Given the description of an element on the screen output the (x, y) to click on. 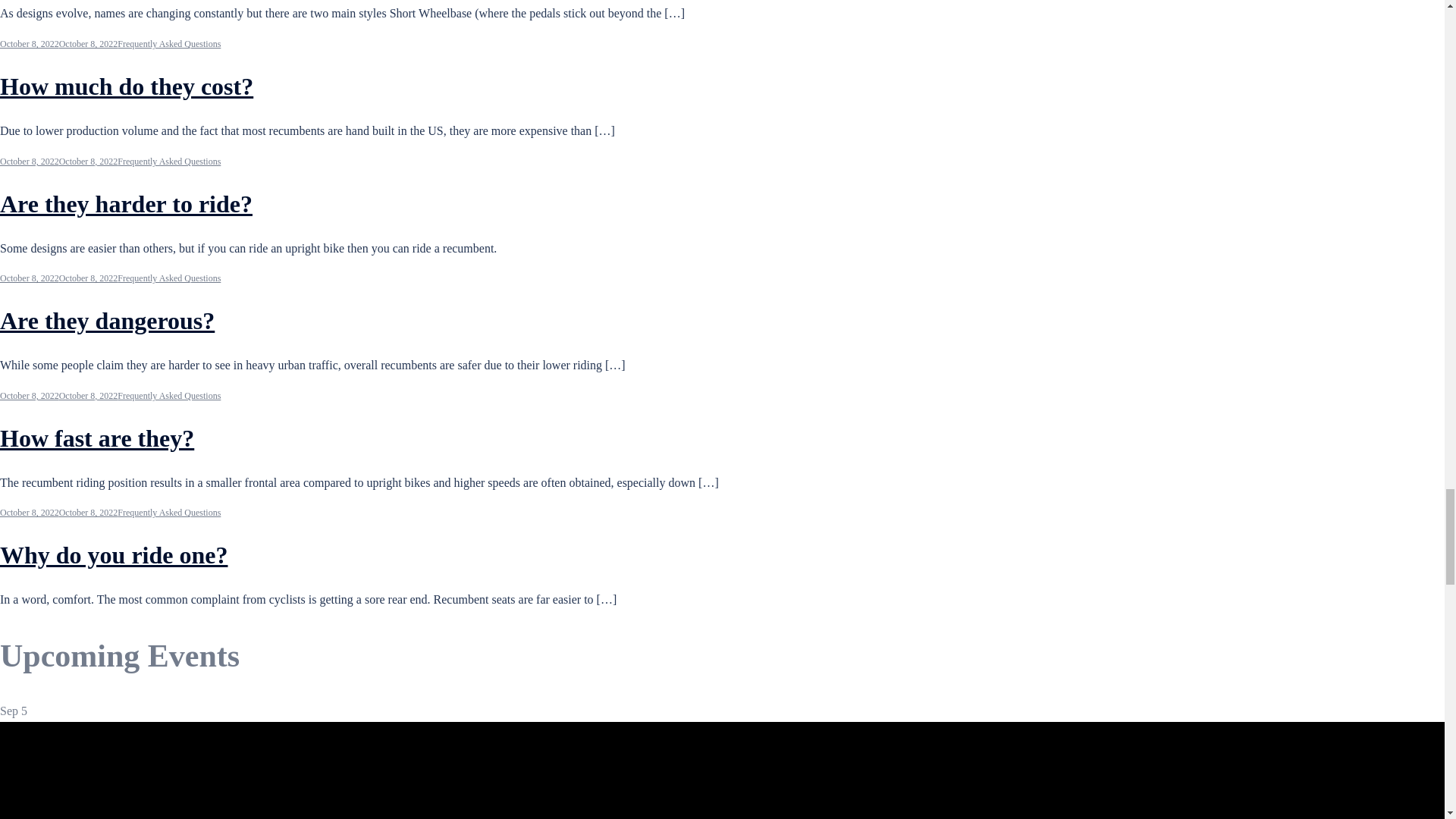
Are they dangerous? (107, 320)
October 8, 2022October 8, 2022 (58, 277)
Frequently Asked Questions (169, 161)
Frequently Asked Questions (169, 277)
October 8, 2022October 8, 2022 (58, 161)
How fast are they? (96, 438)
Frequently Asked Questions (169, 395)
How much do they cost? (126, 85)
Frequently Asked Questions (169, 43)
October 8, 2022October 8, 2022 (58, 395)
